Given the description of an element on the screen output the (x, y) to click on. 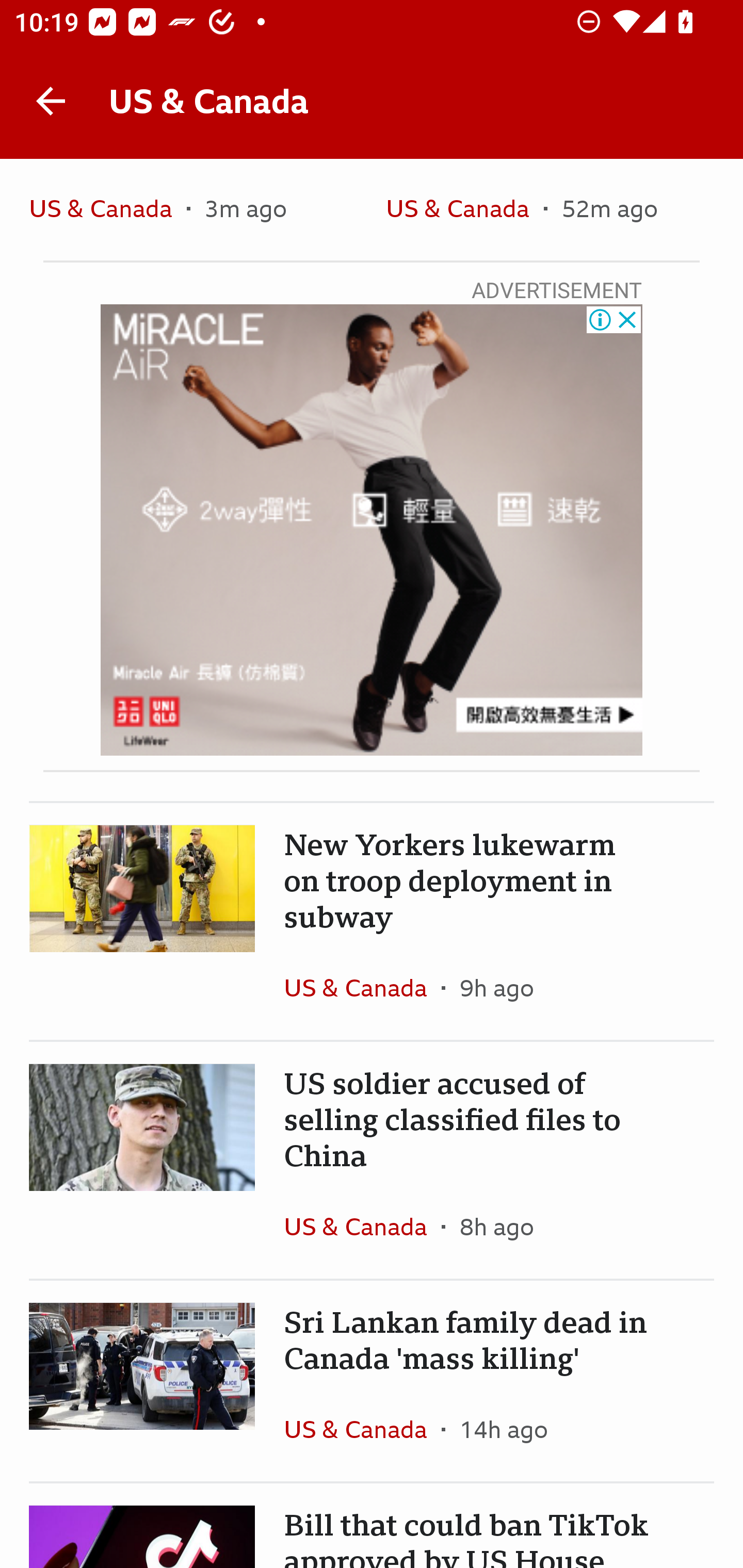
Back (50, 101)
US & Canada In the section US & Canada (107, 209)
US & Canada In the section US & Canada (464, 209)
Advertisement (371, 529)
US & Canada In the section US & Canada (362, 987)
US & Canada In the section US & Canada (362, 1225)
US & Canada In the section US & Canada (362, 1428)
